Given the description of an element on the screen output the (x, y) to click on. 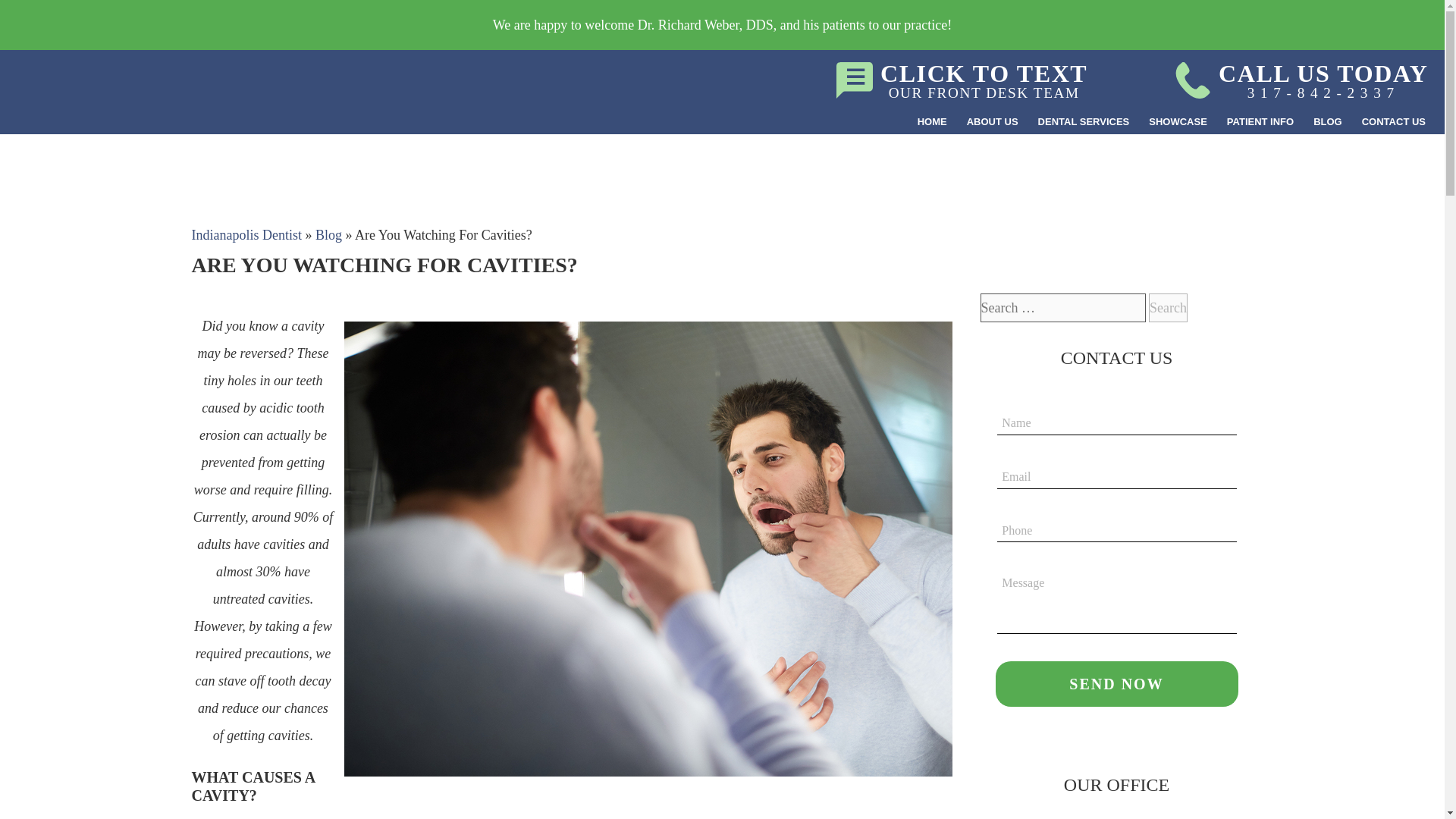
Search (1168, 307)
Send Now (1115, 683)
ABOUT US (991, 122)
DENTAL SERVICES (1083, 122)
Pence Family Dentistry (961, 80)
HOME (51, 60)
Search (931, 122)
